Given the description of an element on the screen output the (x, y) to click on. 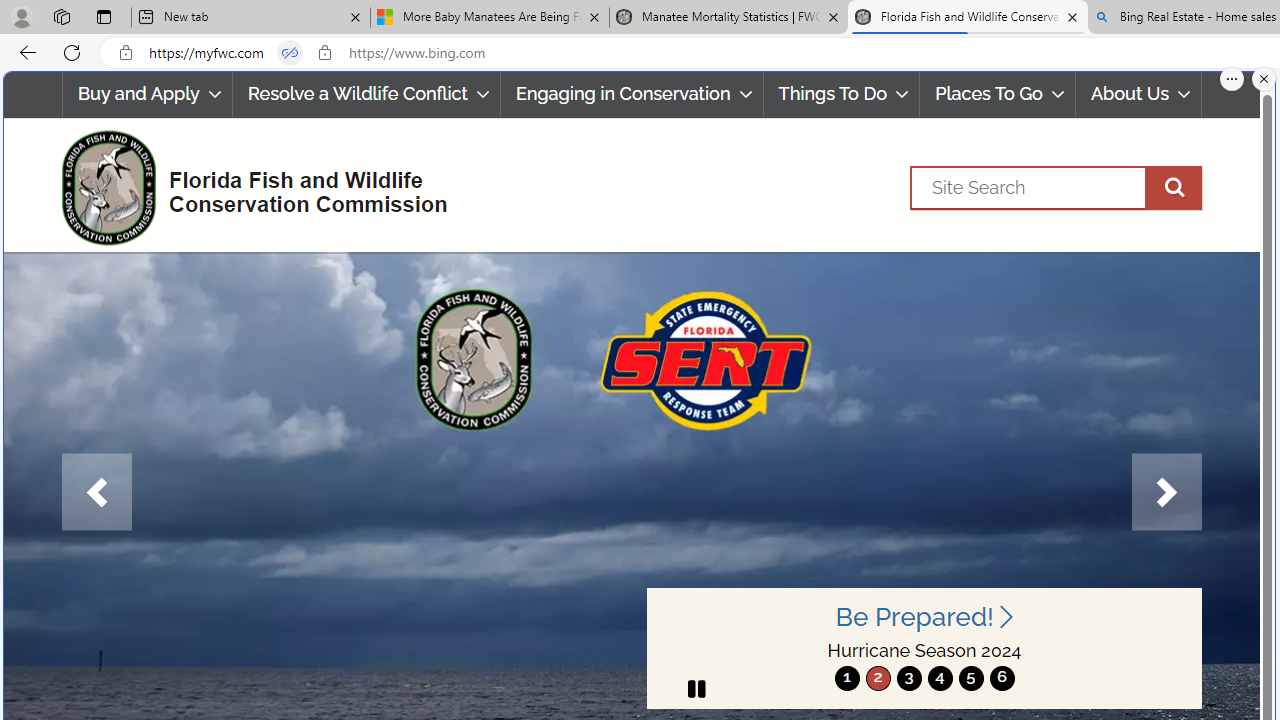
Previous (96, 491)
Tabs in split screen (289, 53)
FWC Logo Florida Fish and Wildlife Conservation Commission (246, 185)
1 (847, 678)
Engaging in Conservation (631, 94)
More options. (1232, 79)
Resolve a Wildlife Conflict (365, 94)
Buy and Apply (146, 94)
Close split screen. (1264, 79)
4 (939, 678)
move to slide 3 (908, 678)
execute site search (1173, 187)
About Us (1138, 94)
Engaging in Conservation (632, 94)
